Given the description of an element on the screen output the (x, y) to click on. 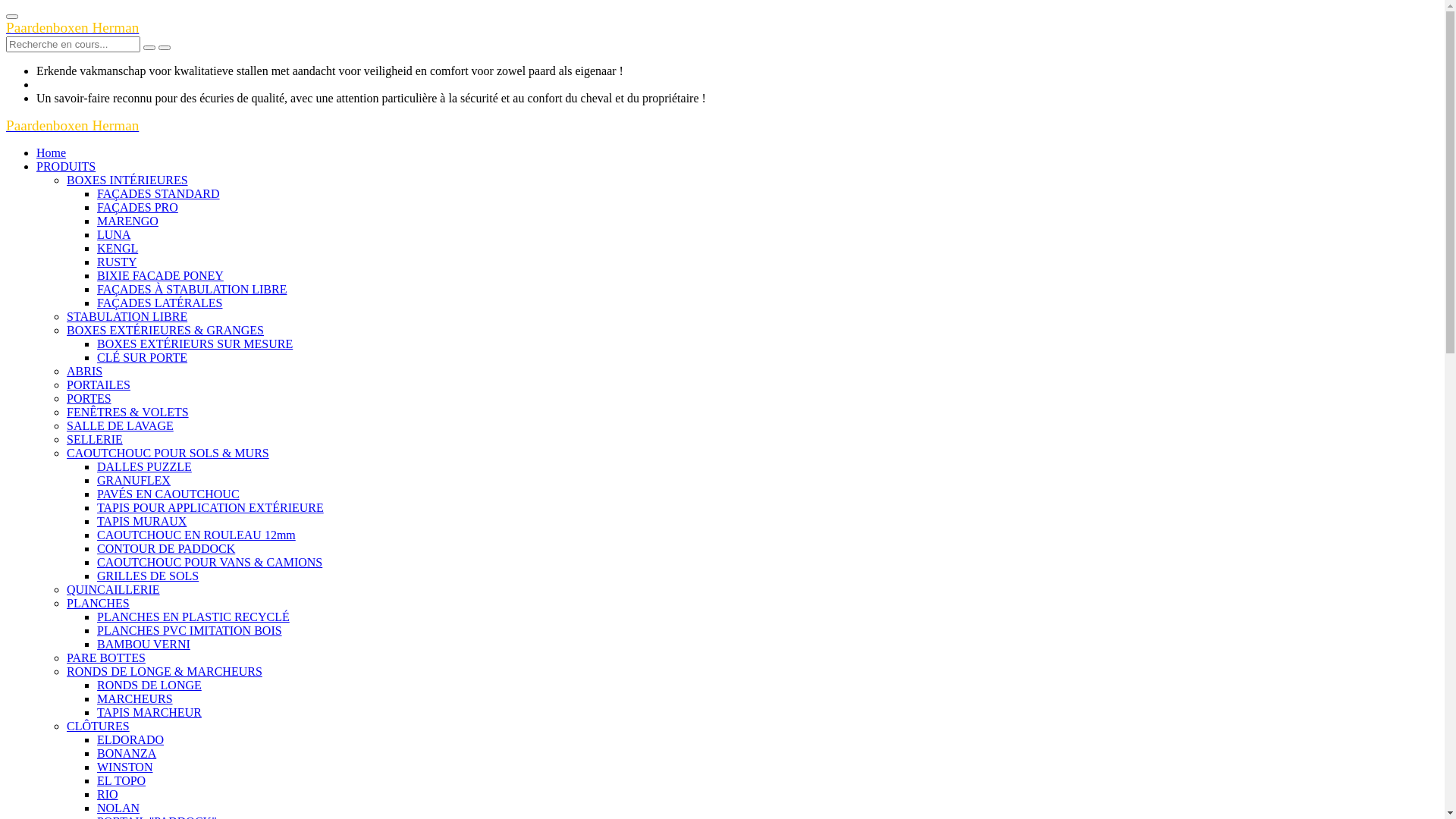
KENGL Element type: text (117, 247)
ABRIS Element type: text (84, 370)
RUSTY Element type: text (116, 261)
MARENGO Element type: text (127, 220)
GRILLES DE SOLS Element type: text (147, 575)
BAMBOU VERNI Element type: text (143, 643)
CAOUTCHOUC POUR SOLS & MURS Element type: text (167, 452)
CAOUTCHOUC POUR VANS & CAMIONS Element type: text (209, 561)
PRODUITS Element type: text (65, 166)
LUNA Element type: text (113, 234)
Paardenboxen Herman Element type: text (72, 27)
PORTAILES Element type: text (98, 384)
RONDS DE LONGE Element type: text (149, 684)
SALLE DE LAVAGE Element type: text (119, 425)
Home Element type: text (50, 152)
DALLES PUZZLE Element type: text (144, 466)
ELDORADO Element type: text (130, 739)
Paardenboxen Herman Element type: text (72, 125)
STABULATION LIBRE Element type: text (126, 316)
PLANCHES PVC IMITATION BOIS Element type: text (189, 630)
TAPIS MARCHEUR Element type: text (149, 712)
BONANZA Element type: text (126, 752)
NOLAN Element type: text (118, 807)
GRANUFLEX Element type: text (133, 479)
TAPIS MURAUX Element type: text (141, 520)
RONDS DE LONGE & MARCHEURS Element type: text (164, 671)
PARE BOTTES Element type: text (105, 657)
MARCHEURS Element type: text (134, 698)
PORTES Element type: text (88, 398)
EL TOPO Element type: text (121, 780)
BIXIE FACADE PONEY Element type: text (160, 275)
CONTOUR DE PADDOCK Element type: text (166, 548)
QUINCAILLERIE Element type: text (113, 589)
PLANCHES Element type: text (97, 602)
SELLERIE Element type: text (94, 439)
RIO Element type: text (107, 793)
CAOUTCHOUC EN ROULEAU 12mm Element type: text (196, 534)
WINSTON Element type: text (124, 766)
